Given the description of an element on the screen output the (x, y) to click on. 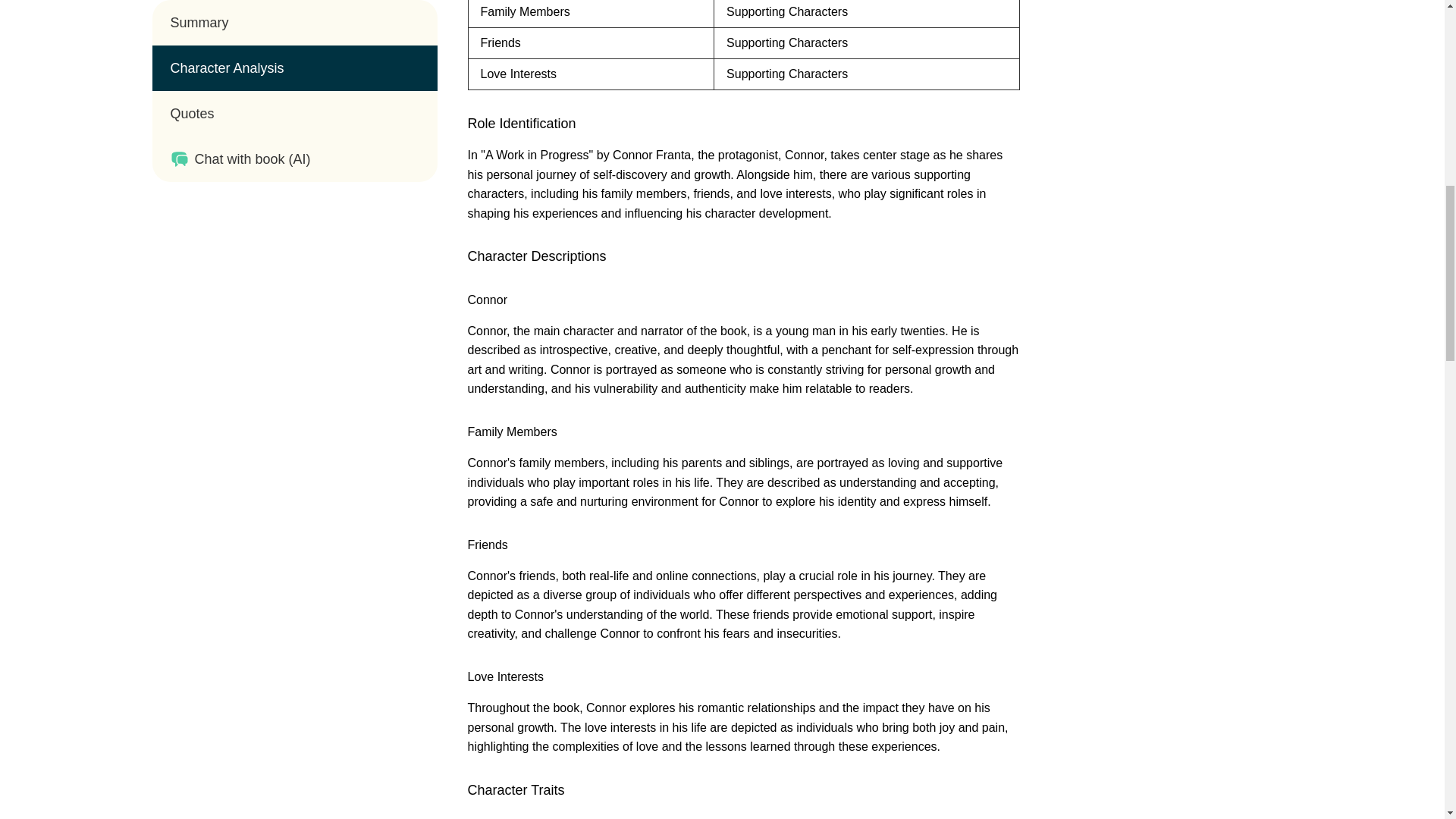
Family Members (511, 431)
Character Traits (515, 789)
Role Identification (521, 123)
Love Interests (505, 676)
Friends (486, 544)
Connor (486, 299)
Character Descriptions (536, 255)
